Given the description of an element on the screen output the (x, y) to click on. 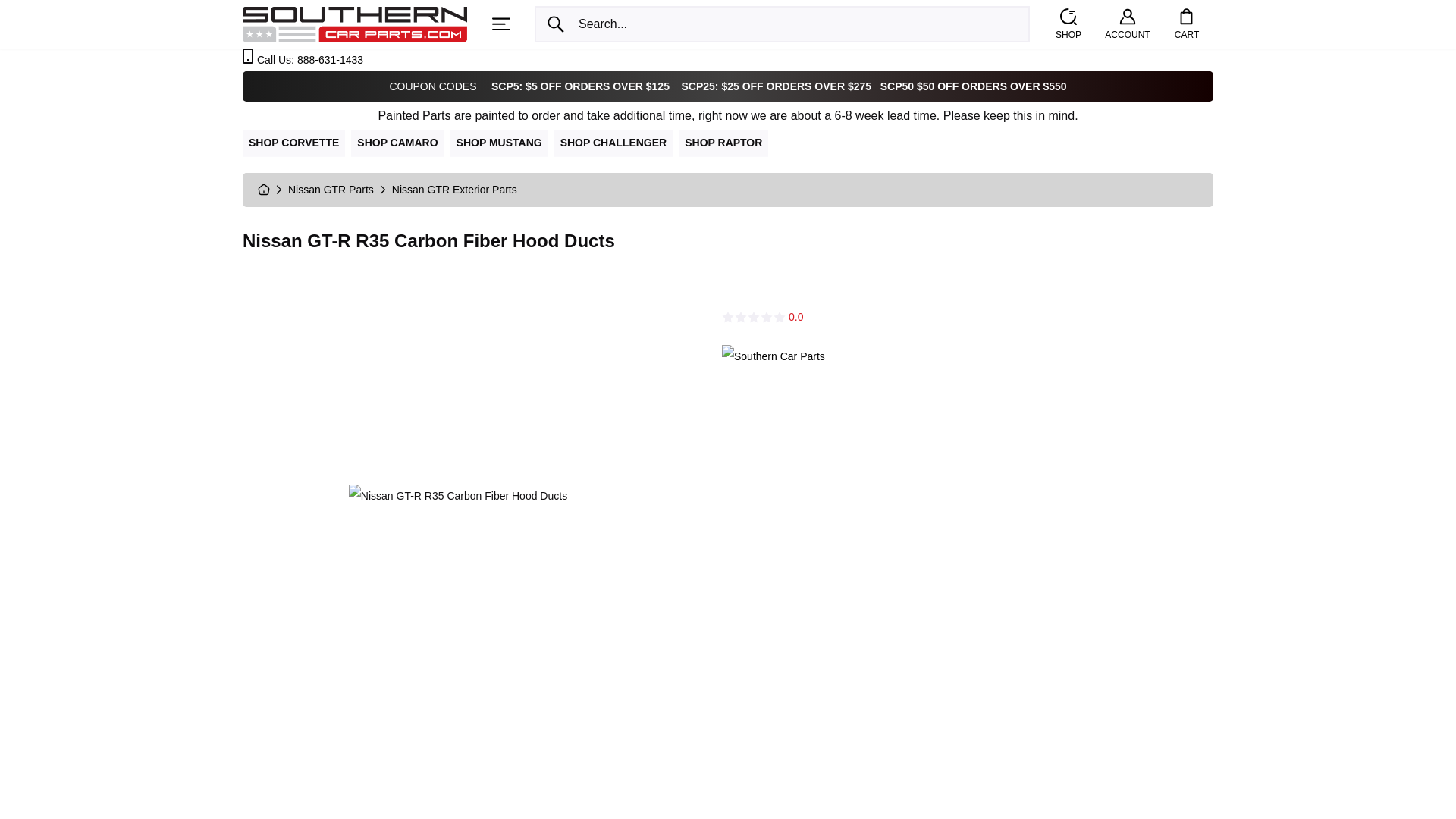
Home (355, 23)
SHOP (1068, 24)
888-631-1433 (329, 60)
Search (555, 23)
